Given the description of an element on the screen output the (x, y) to click on. 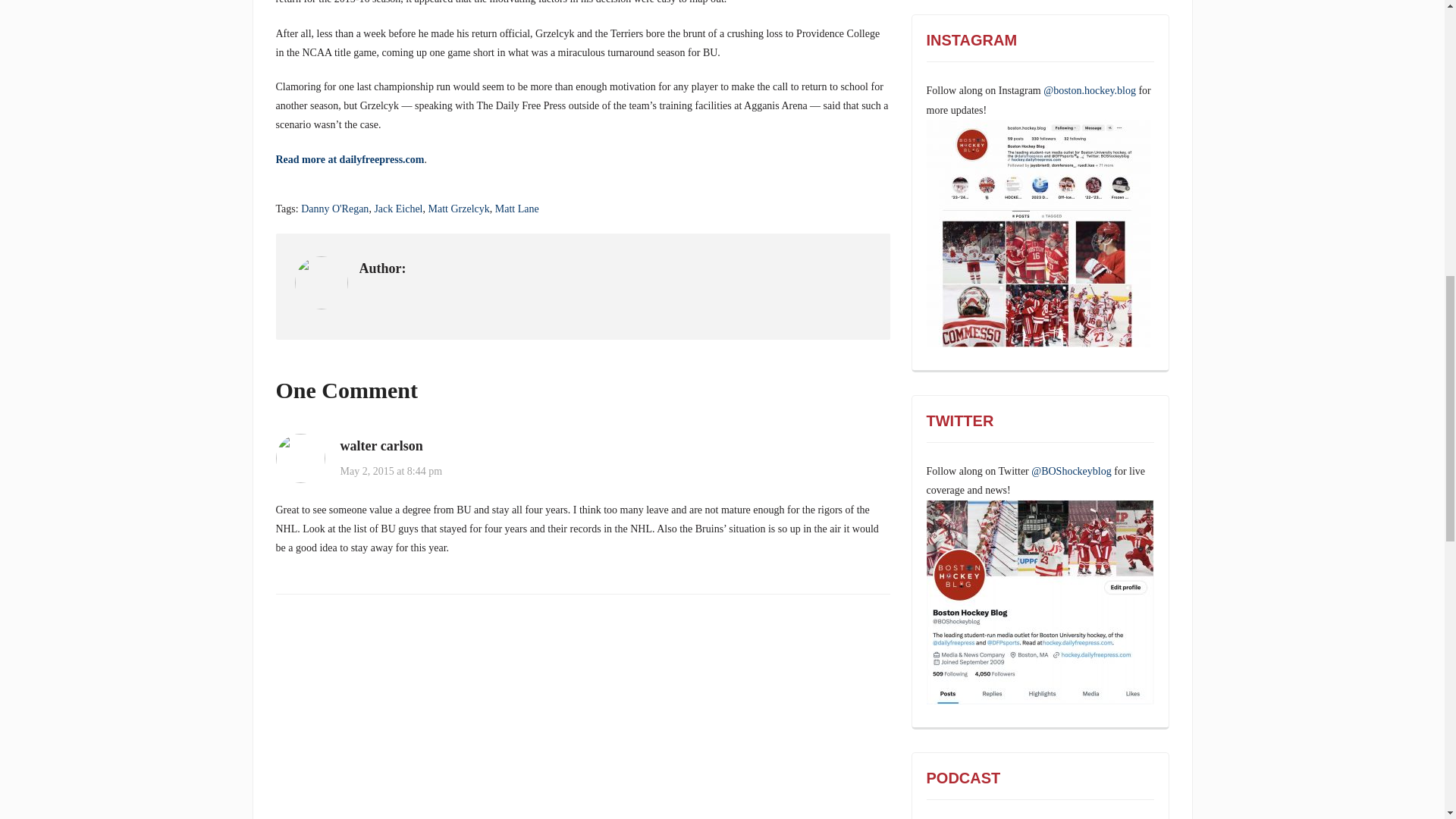
Danny O'Regan (334, 208)
Matt Grzelcyk (458, 208)
Read more at dailyfreepress.com (350, 159)
May 2, 2015 at 8:44 pm (390, 471)
Jack Eichel (398, 208)
Matt Lane (516, 208)
